Given the description of an element on the screen output the (x, y) to click on. 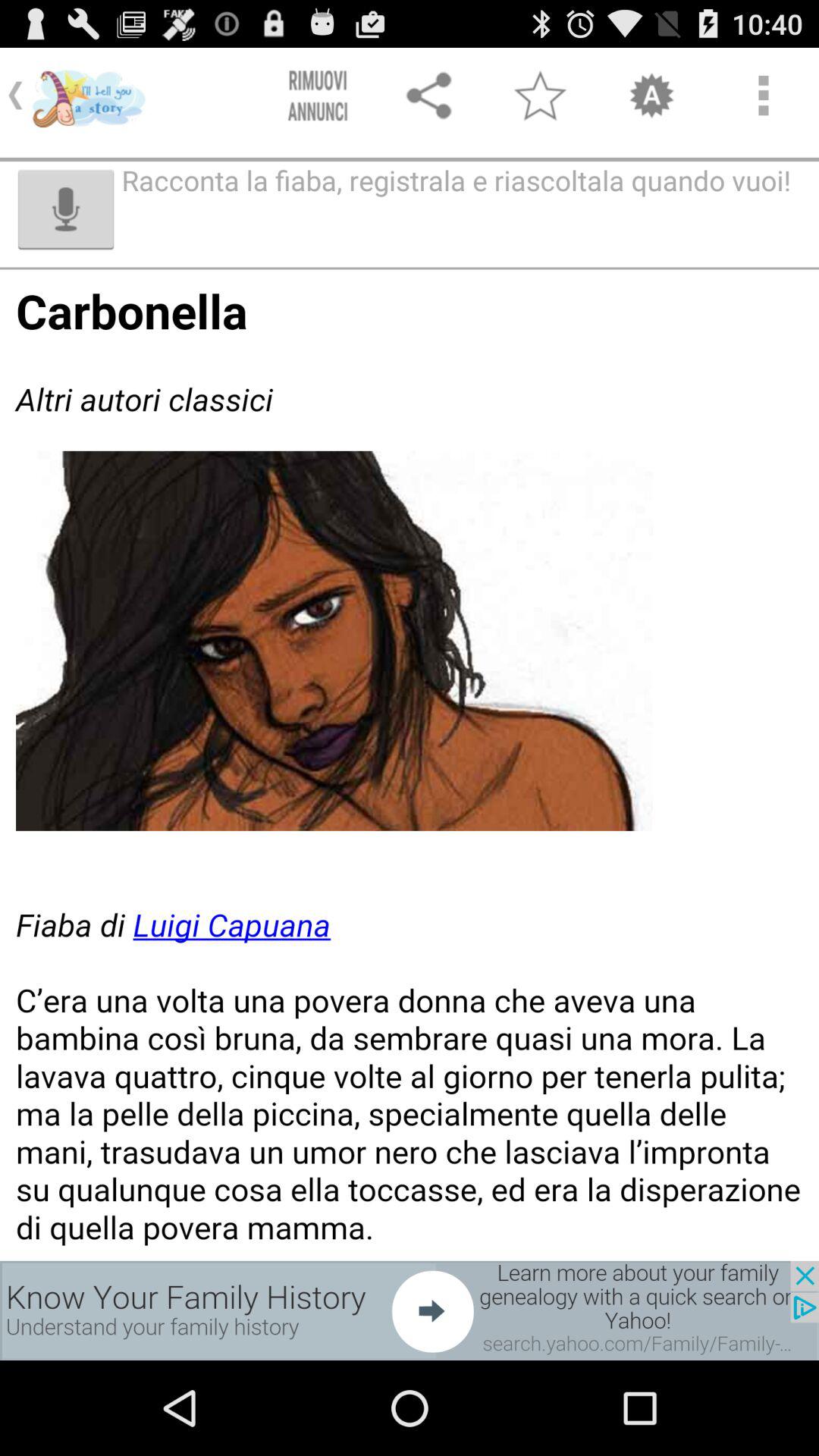
click the app to know your family history (409, 1310)
